Given the description of an element on the screen output the (x, y) to click on. 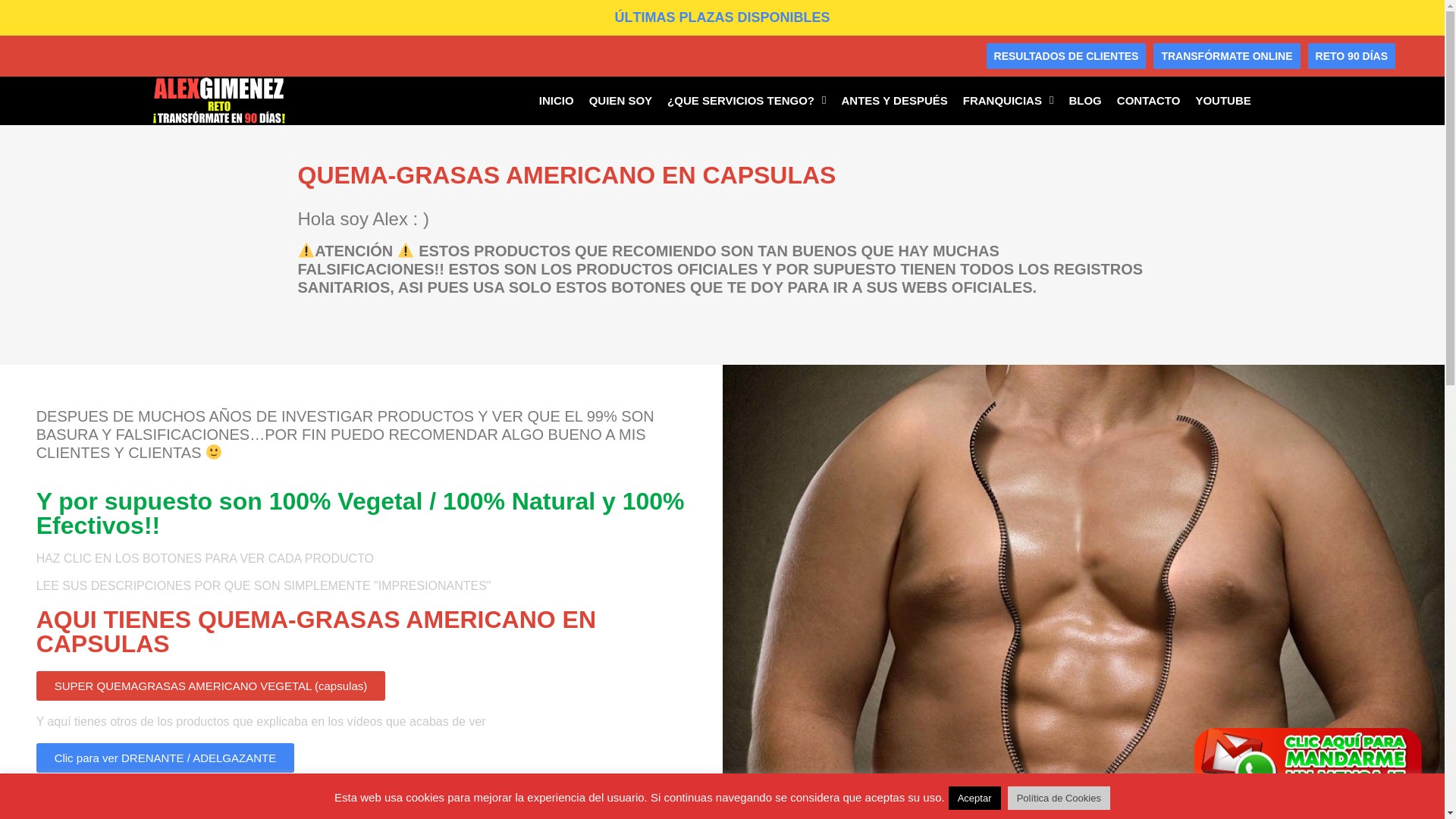
BLOG (1084, 101)
INICIO (555, 101)
CONTACTO (1148, 101)
YOUTUBE (1222, 101)
Clic para ver VITAMINICO VIT-1 (135, 802)
FRANQUICIAS (1008, 101)
RESULTADOS DE CLIENTES (1067, 55)
QUIEN SOY (619, 101)
